Given the description of an element on the screen output the (x, y) to click on. 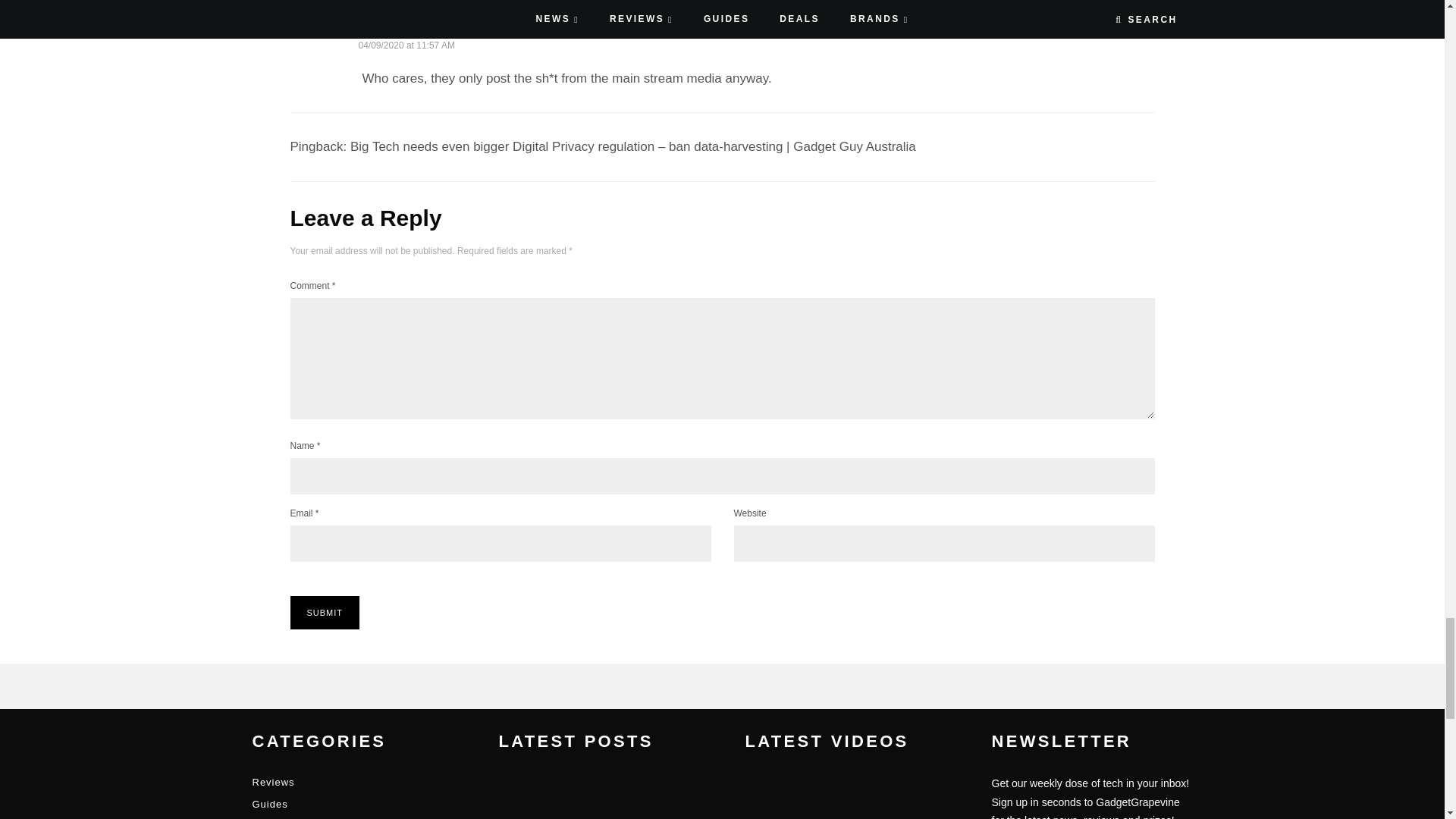
Submit (324, 612)
